Given the description of an element on the screen output the (x, y) to click on. 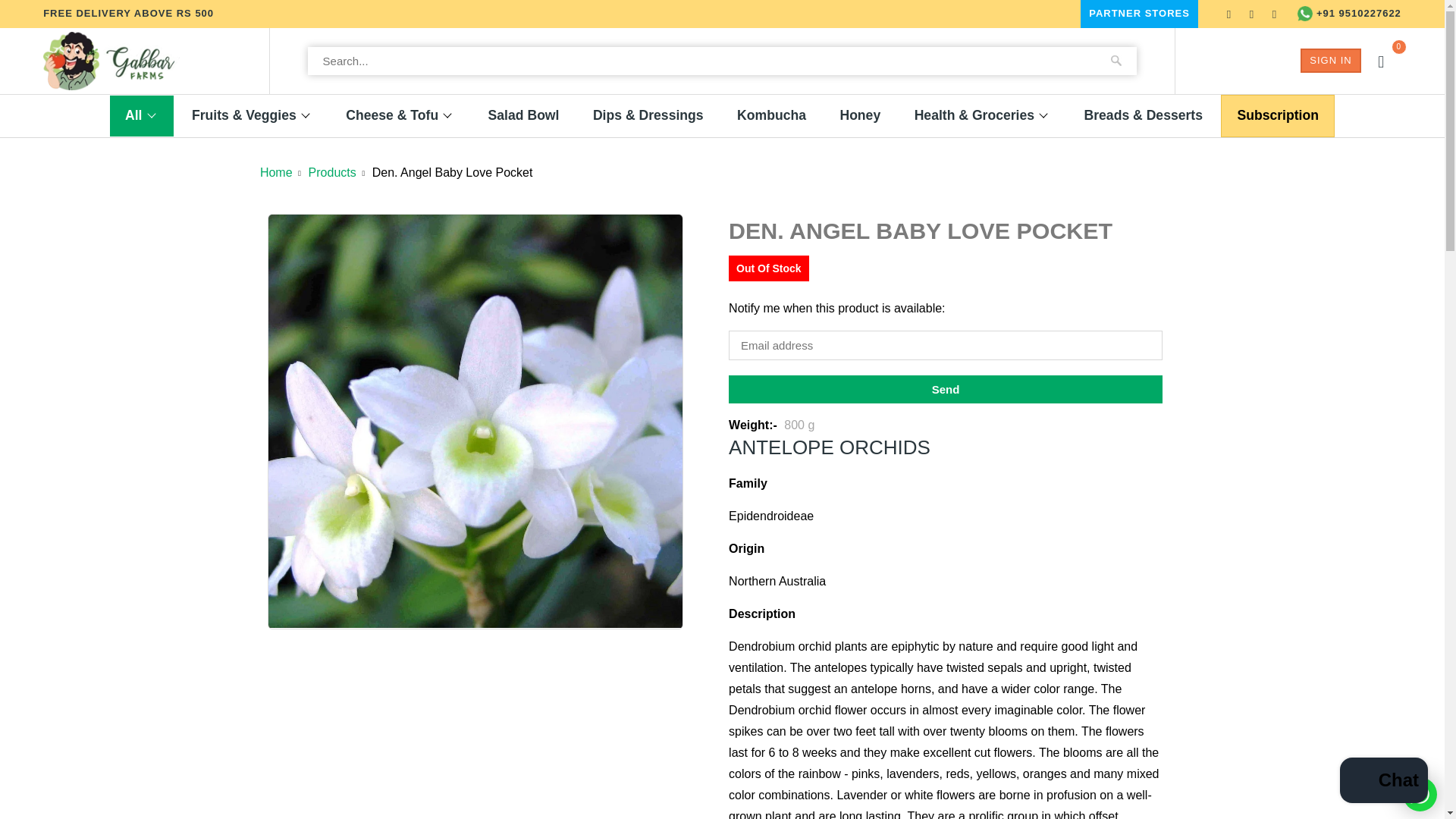
SIGN IN (1329, 60)
Shopify online store chat (1383, 781)
Products (332, 172)
Gabbar Farms on Facebook (1251, 13)
PARTNER STORES (1139, 13)
My Account (1329, 60)
Gabbar Farms (111, 60)
All (133, 115)
Gabbar Farms on Twitter (1228, 13)
